Given the description of an element on the screen output the (x, y) to click on. 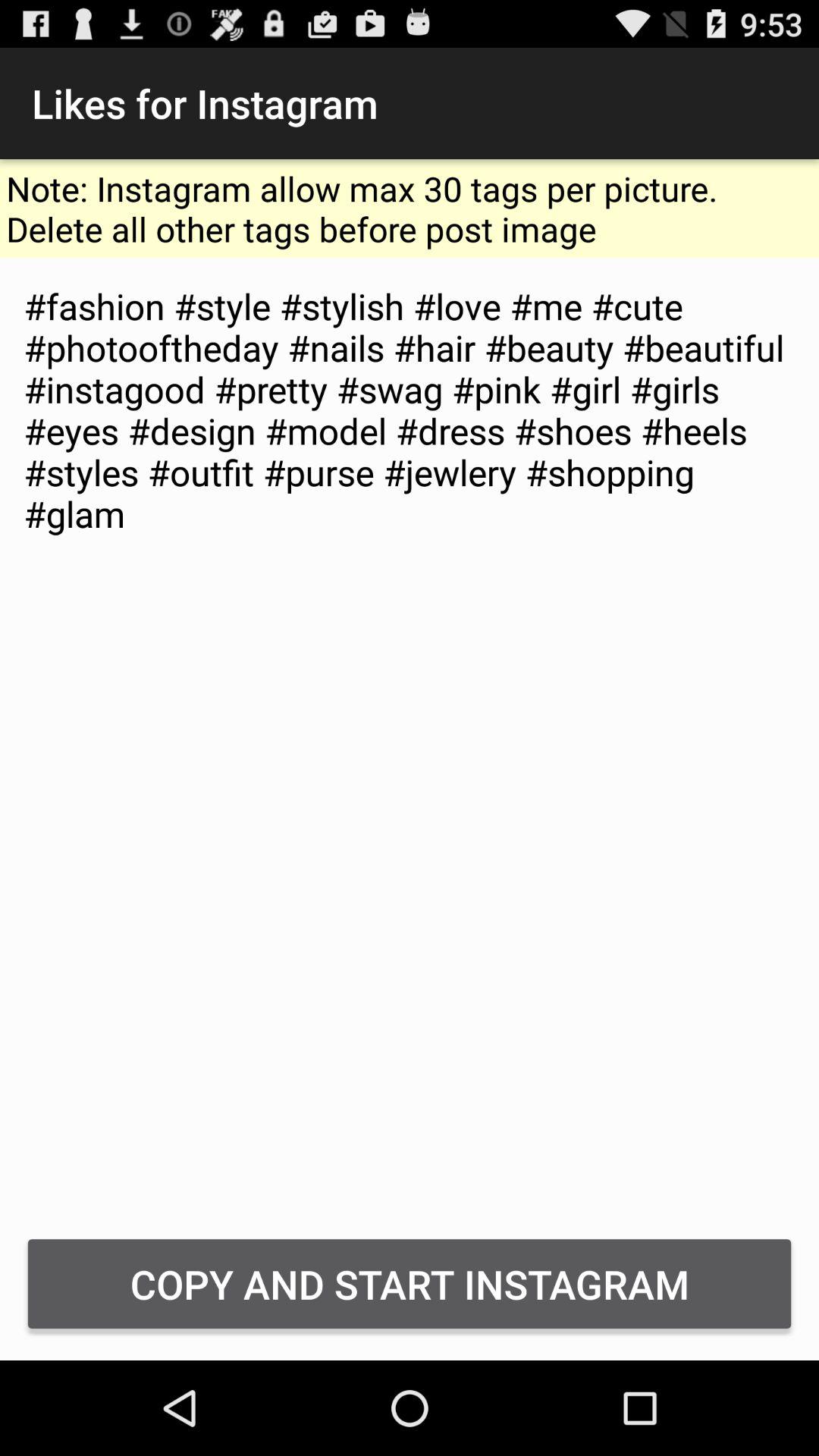
press copy and start item (409, 1283)
